Given the description of an element on the screen output the (x, y) to click on. 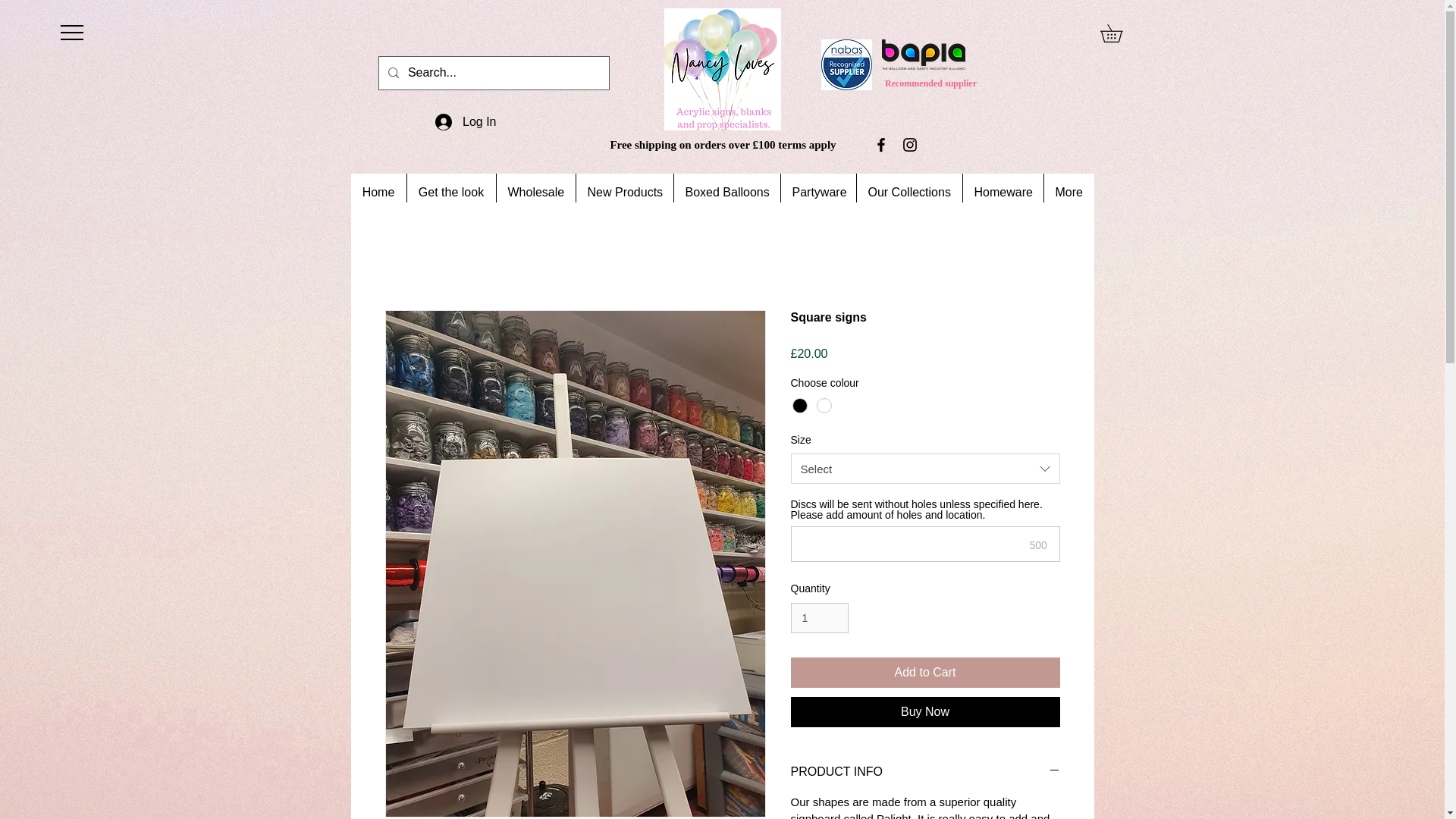
Log In (465, 121)
Wholesale (535, 192)
Partyware (817, 192)
Home (378, 192)
Select (924, 468)
New Products (623, 192)
Homeware (1001, 192)
Our Collections (908, 192)
1 (818, 617)
Get the look (451, 192)
Boxed Balloons (726, 192)
